Given the description of an element on the screen output the (x, y) to click on. 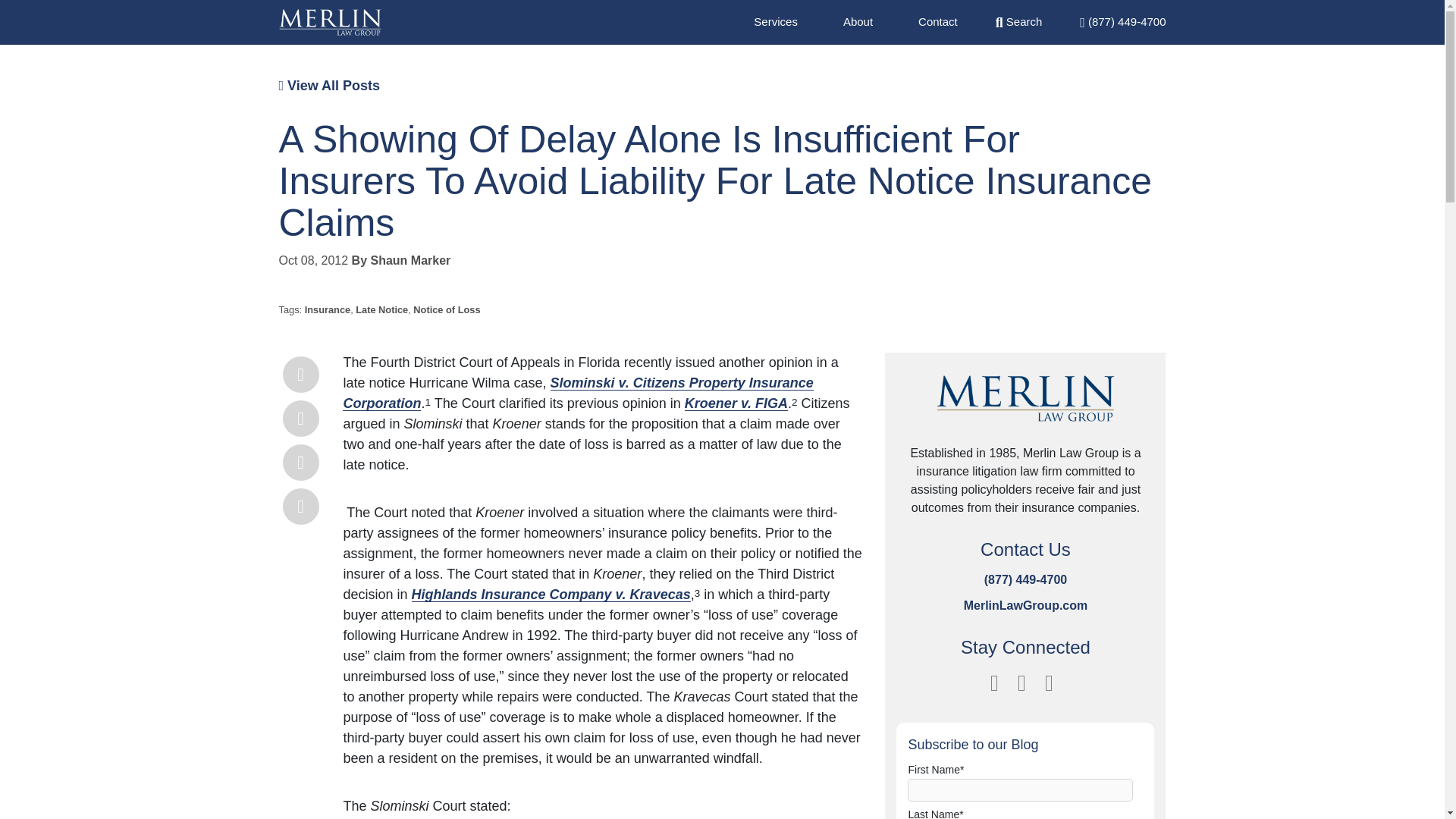
Highlands Insurance Company v. Kravecas (551, 594)
View All Posts (329, 85)
About (857, 21)
Property Insurance Coverage Law Blog (330, 22)
Late Notice (381, 309)
MerlinLawGroup.com (1025, 604)
Search (1018, 21)
Notice of Loss (446, 309)
Insurance (327, 309)
Kroener v. FIGA (735, 403)
